Given the description of an element on the screen output the (x, y) to click on. 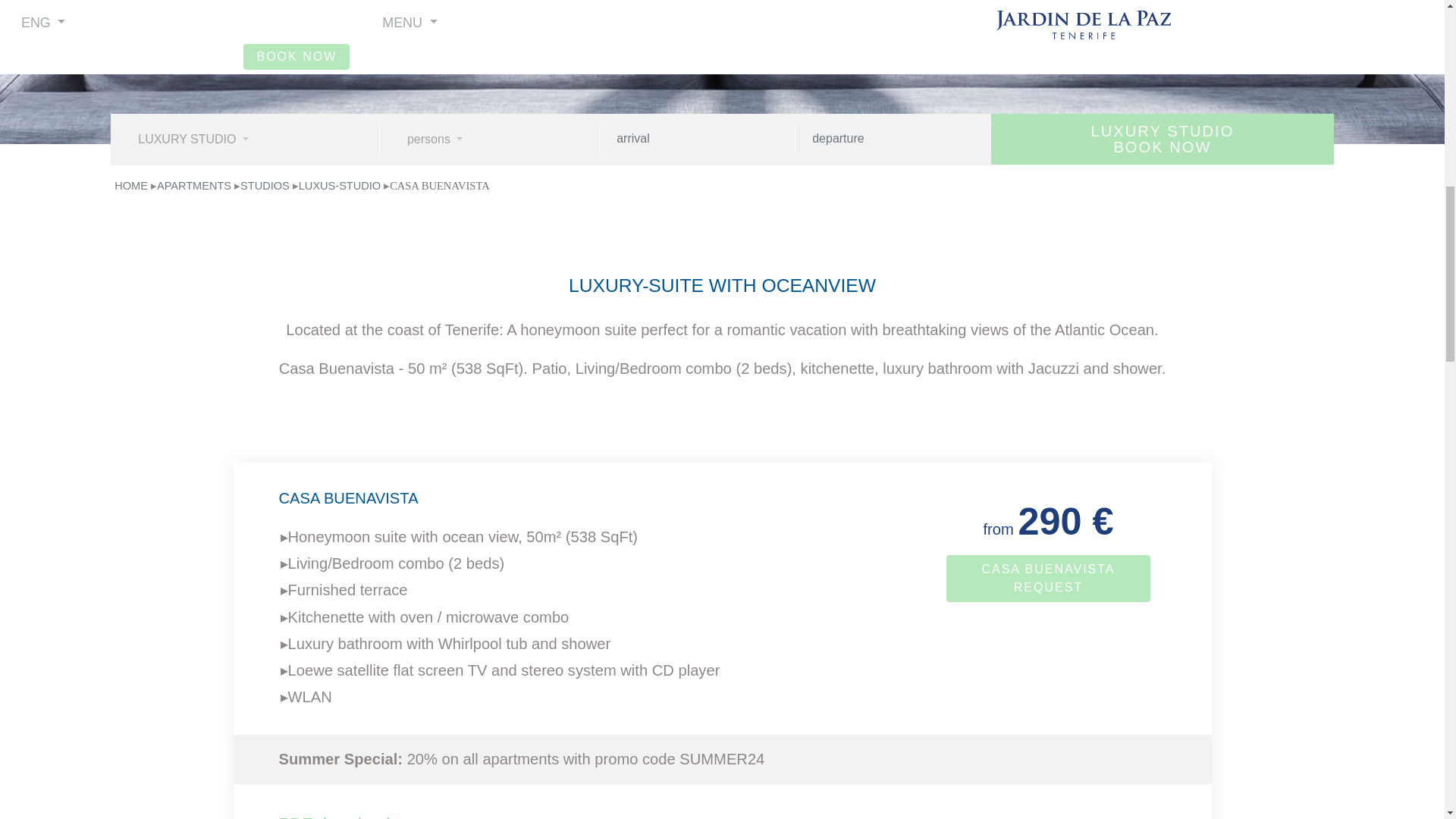
LUXURY STUDIO (244, 139)
